Given the description of an element on the screen output the (x, y) to click on. 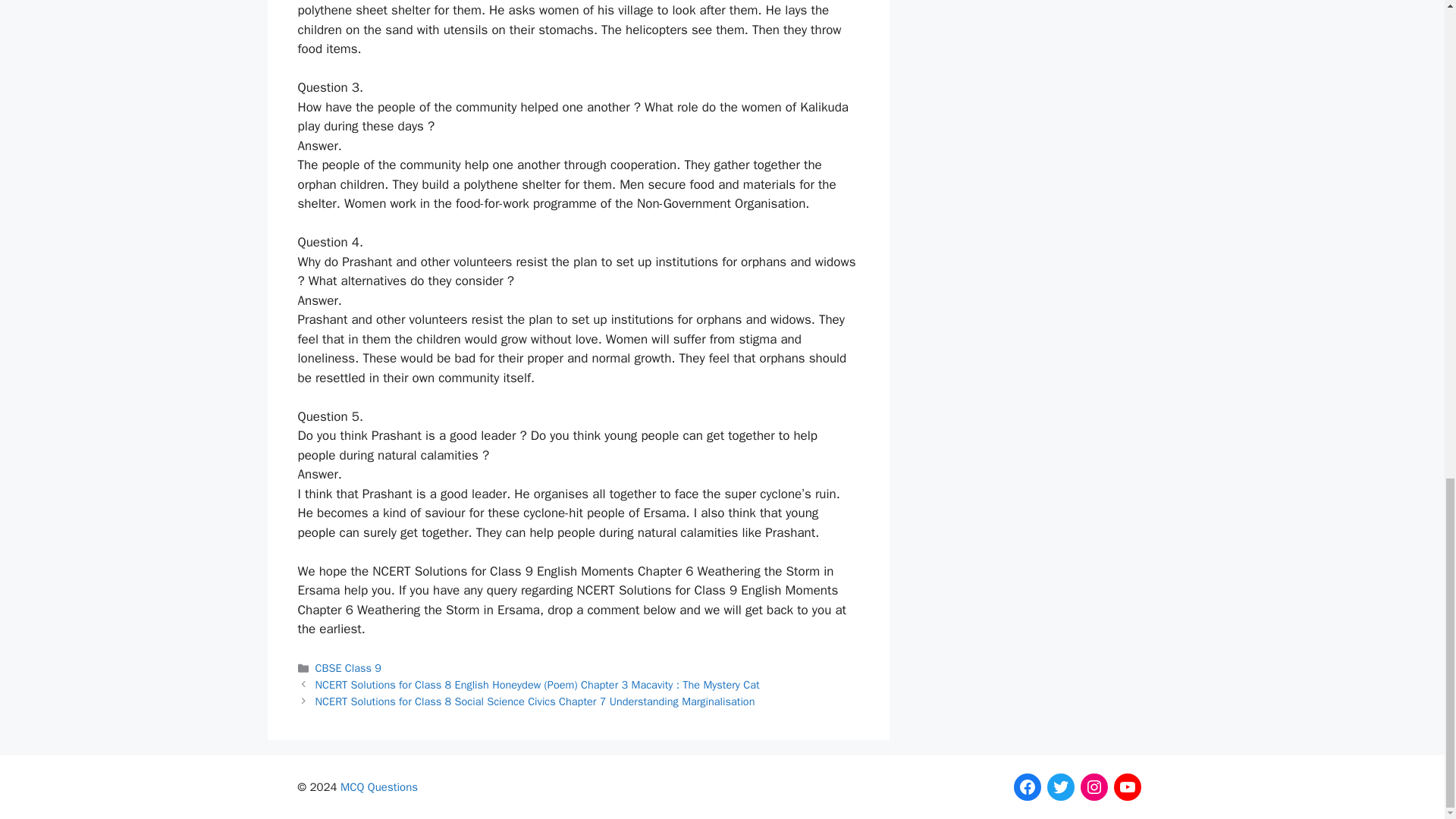
Next (535, 701)
Previous (537, 684)
